Given the description of an element on the screen output the (x, y) to click on. 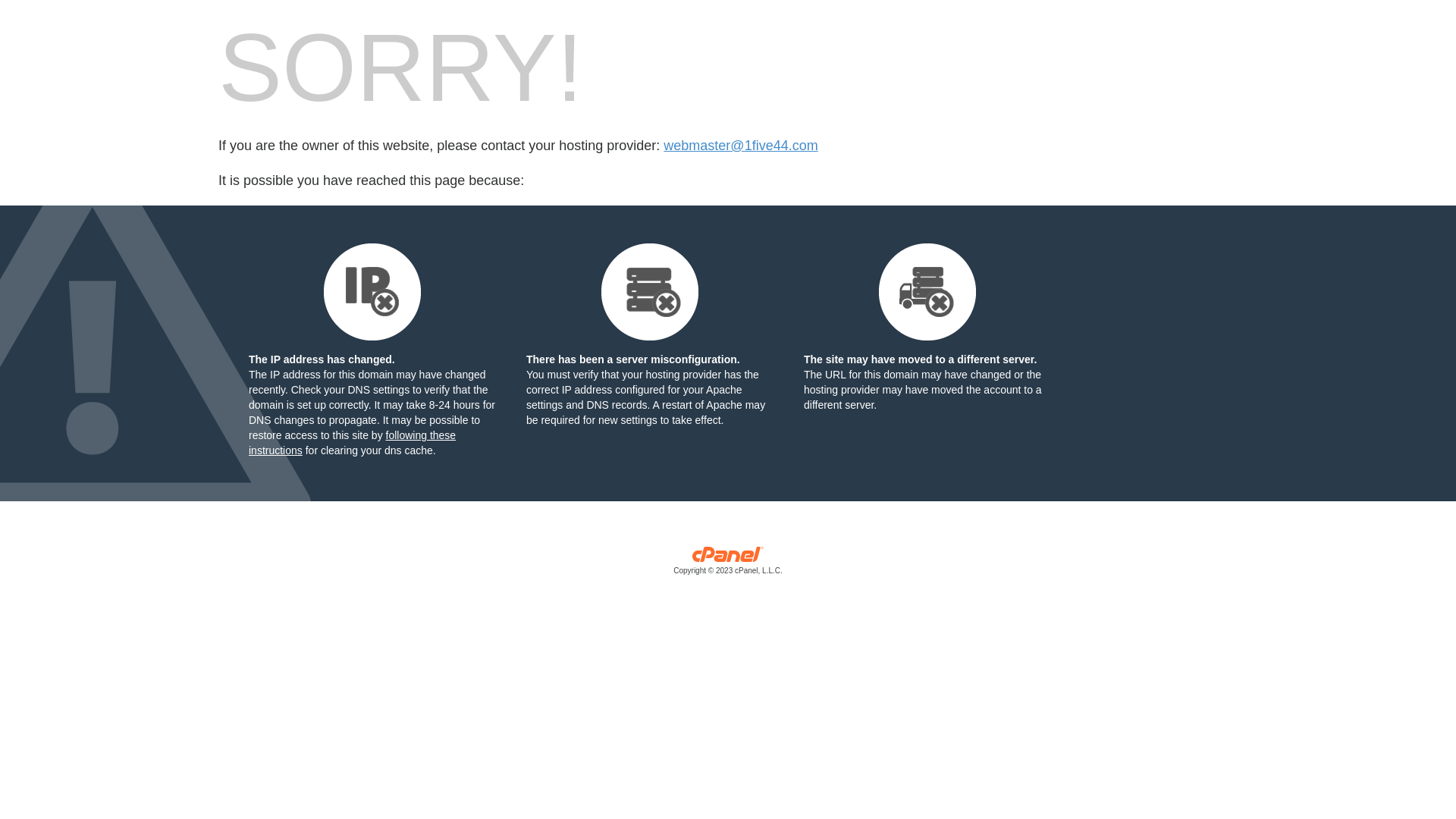
following these instructions Element type: text (351, 442)
webmaster@1five44.com Element type: text (740, 145)
